Given the description of an element on the screen output the (x, y) to click on. 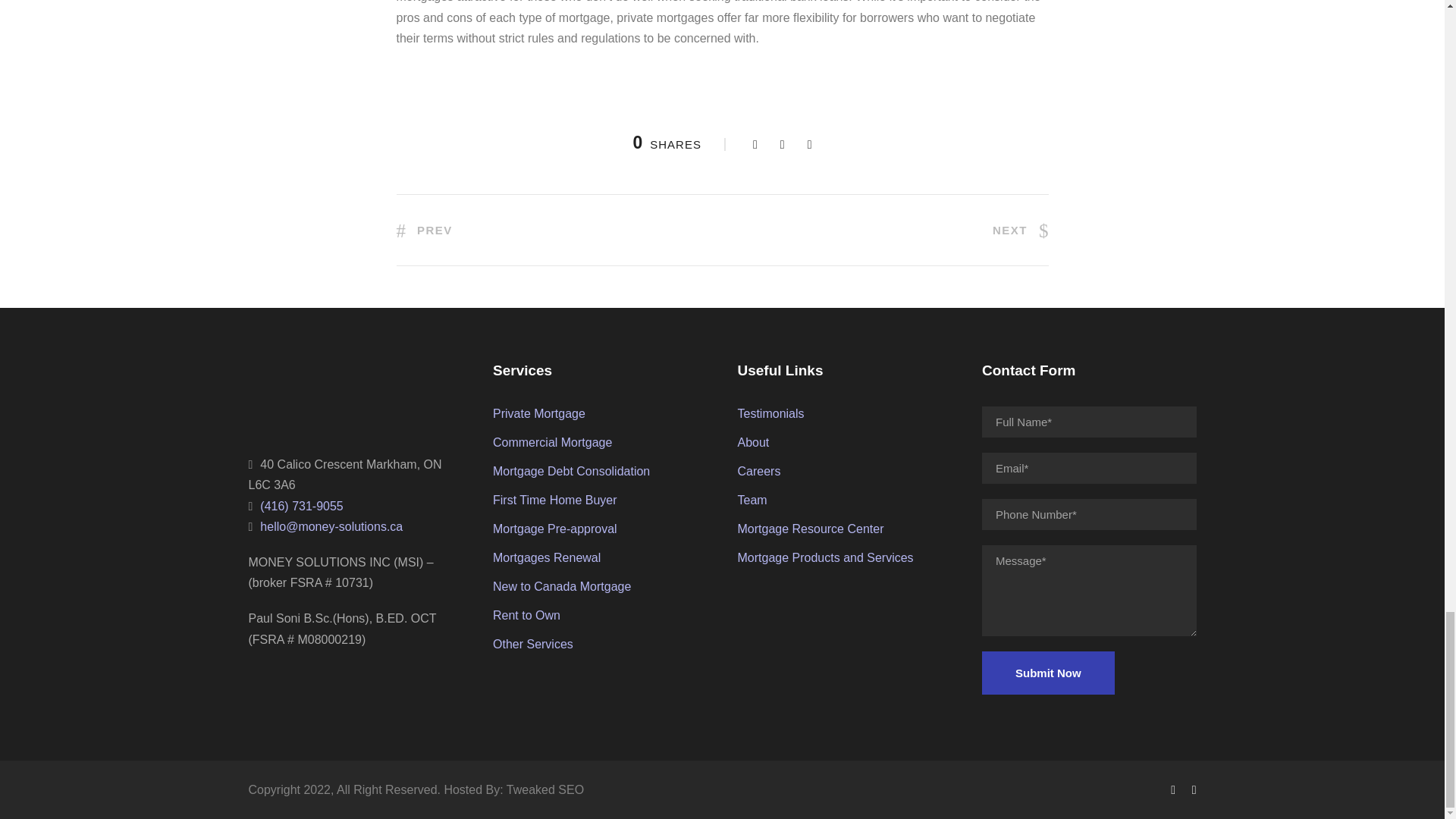
Broker SEO (544, 789)
Submit Now (1048, 672)
